Given the description of an element on the screen output the (x, y) to click on. 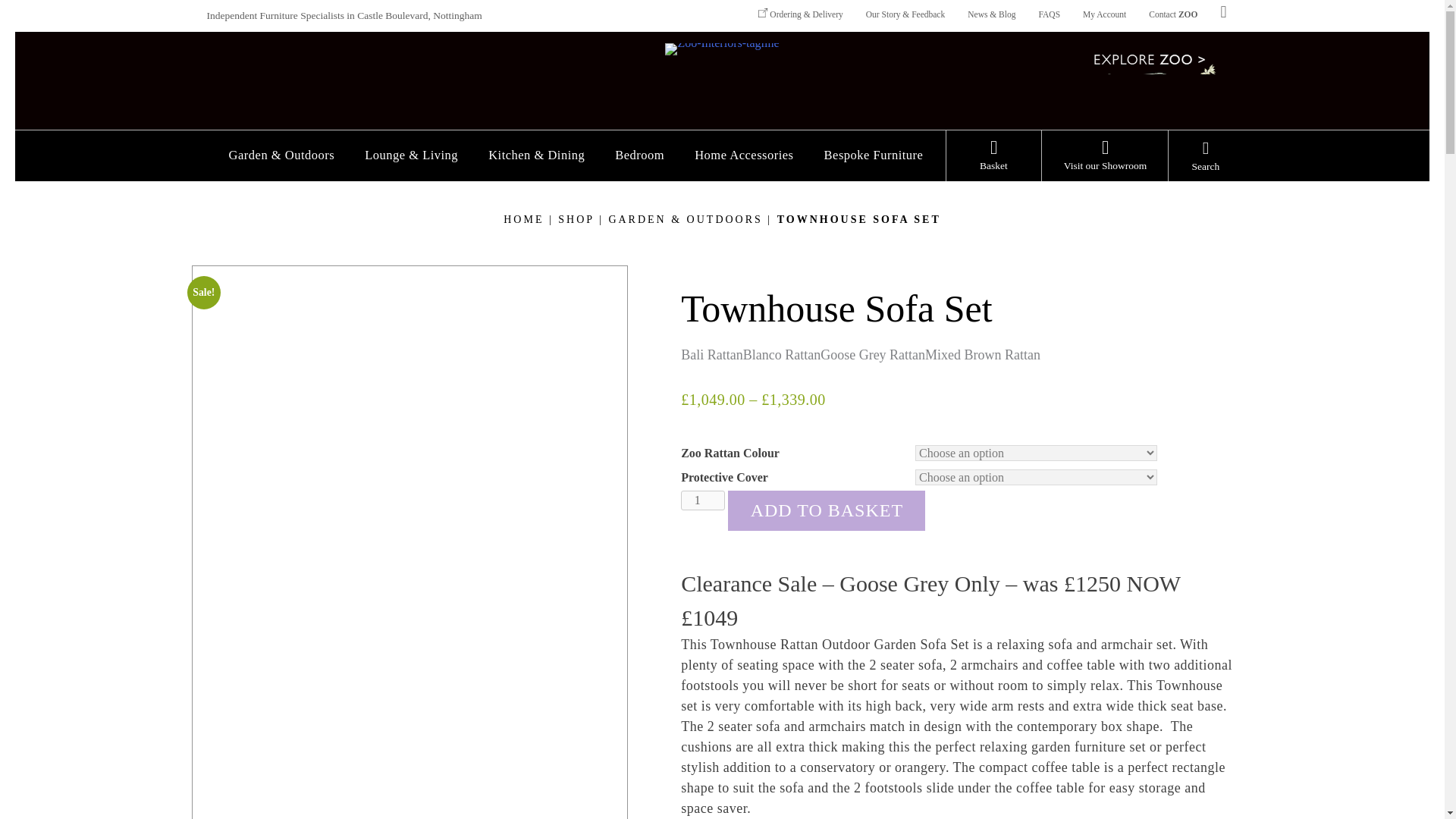
Zoo-Interiors-tagline (721, 49)
FAQS (1048, 15)
1 (703, 499)
Visit our Showroom (1105, 165)
My Account (1104, 15)
Contact ZOO (1173, 15)
Zoo Interiors Explore Flowers (1161, 80)
Basket (993, 165)
